Given the description of an element on the screen output the (x, y) to click on. 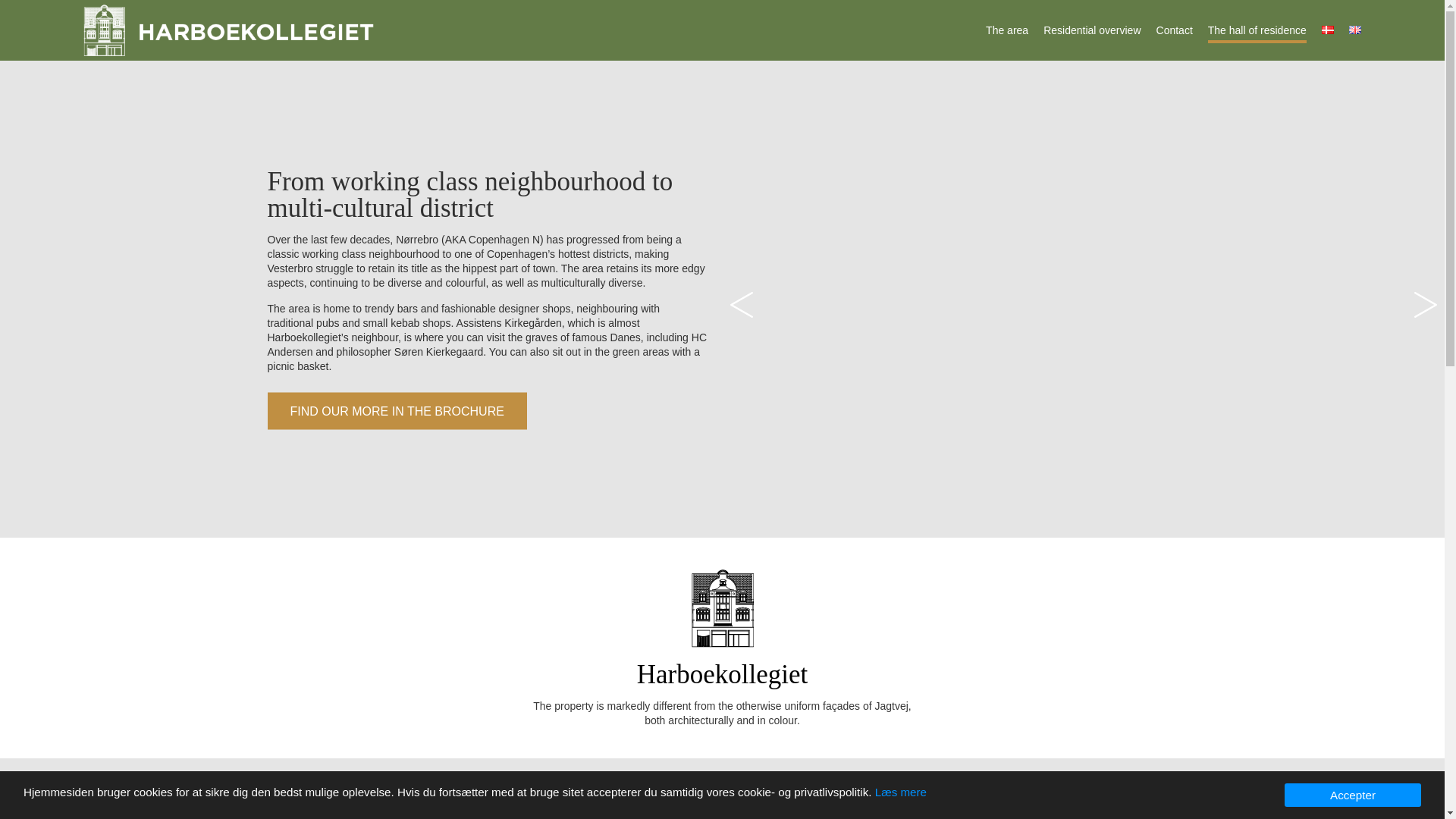
Residential overview (1091, 30)
Accepter (1352, 794)
FIND OUR MORE IN THE BROCHURE (395, 411)
The hall of residence (1257, 31)
English (1355, 29)
Dansk (1327, 29)
The area (1006, 30)
Contact (1174, 30)
